Given the description of an element on the screen output the (x, y) to click on. 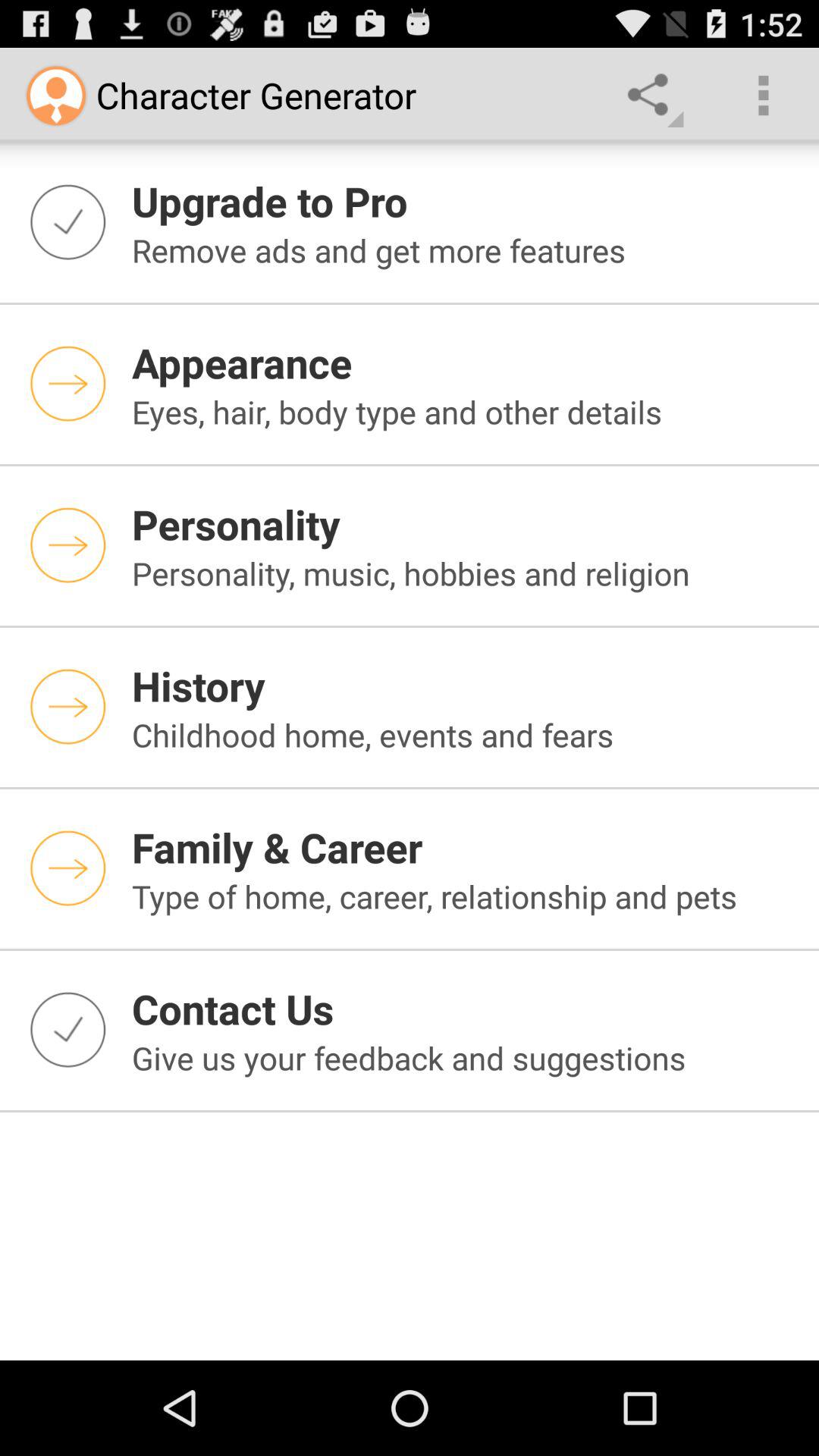
launch the history item (465, 685)
